Given the description of an element on the screen output the (x, y) to click on. 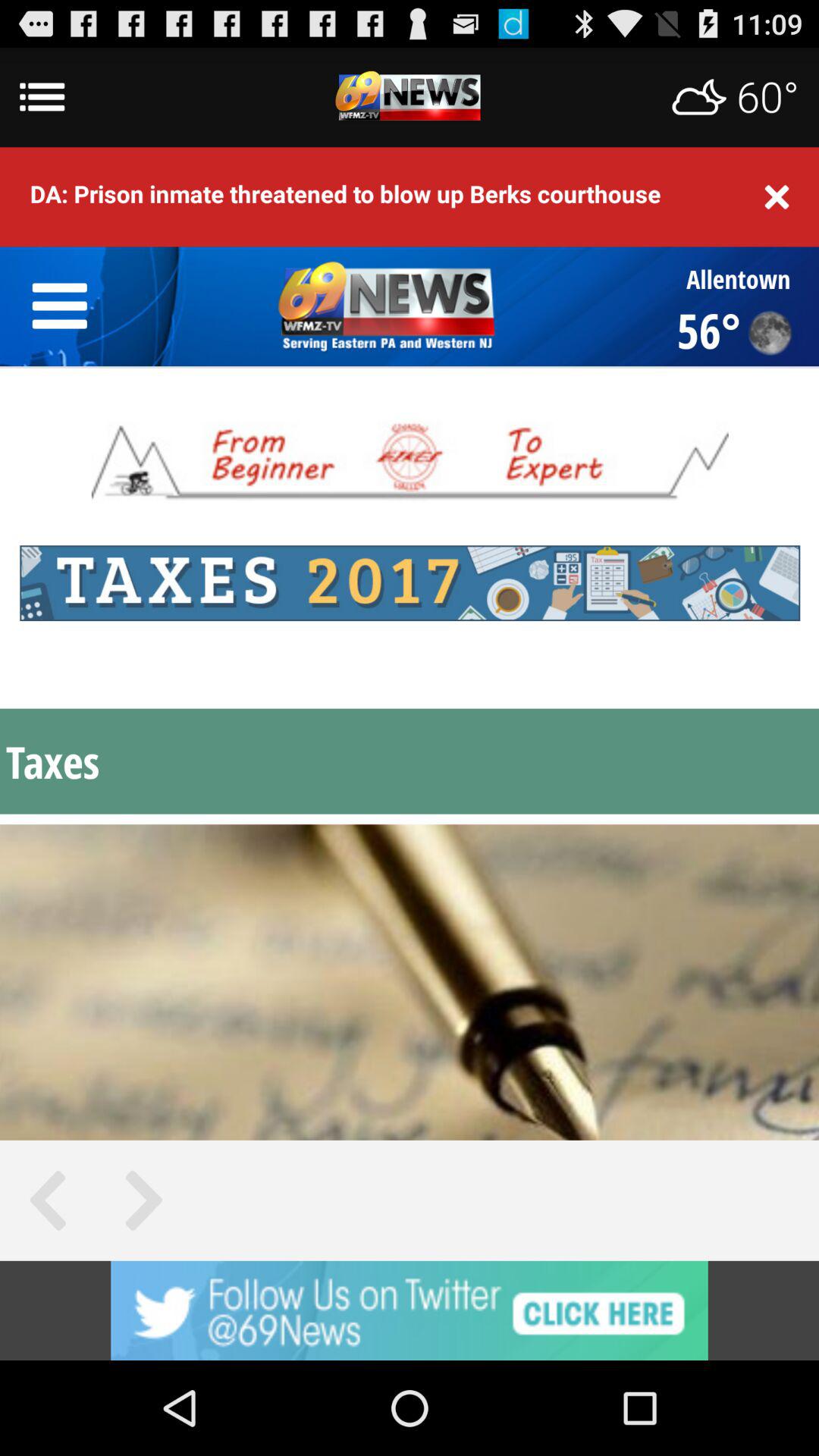
advertismenet (409, 97)
